Given the description of an element on the screen output the (x, y) to click on. 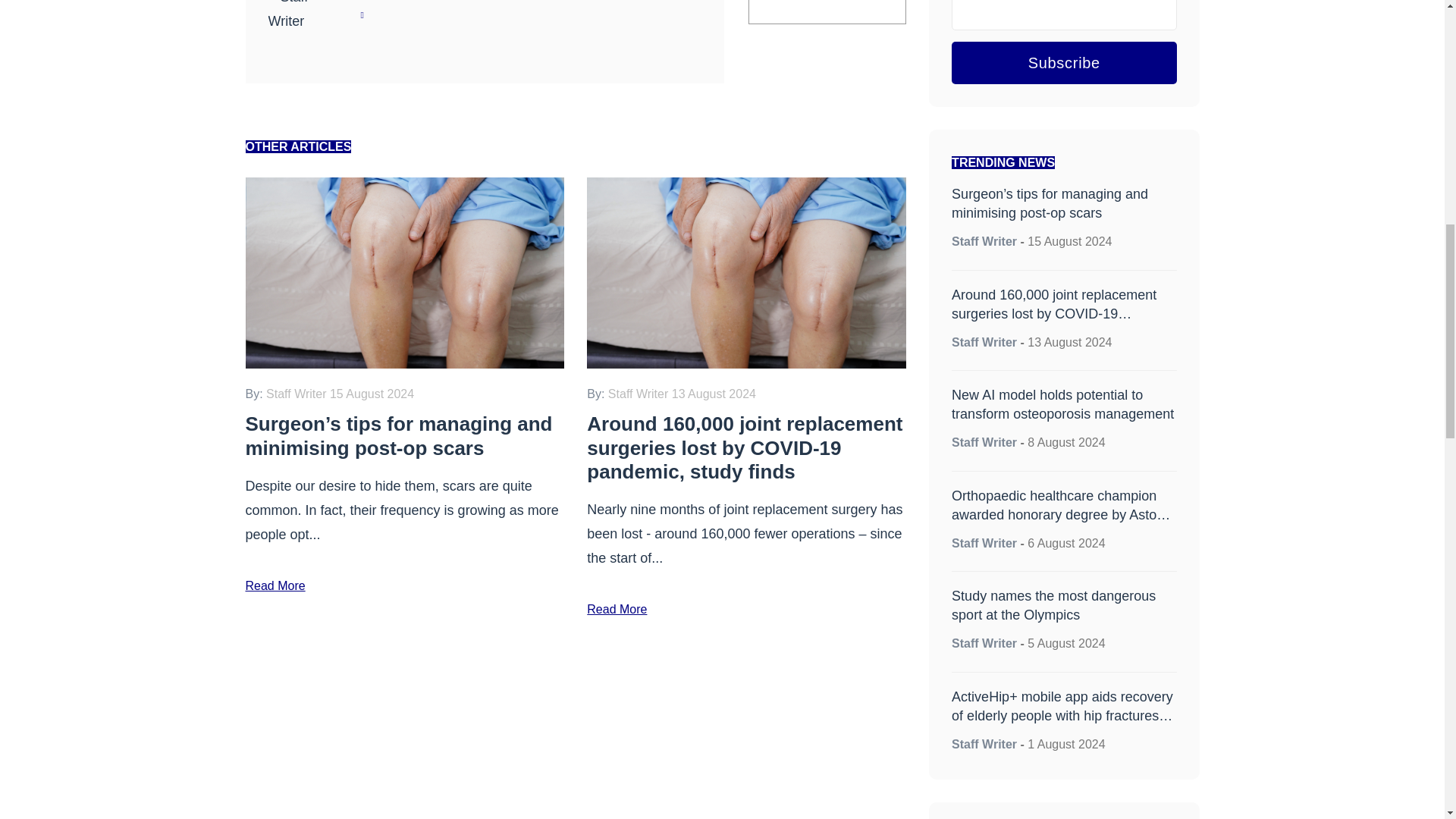
Posts by Staff Writer (984, 441)
Posts by Staff Writer (984, 643)
Posts by Staff Writer (401, 1)
Posts by Staff Writer (984, 341)
Posts by Staff Writer (984, 744)
Posts by Staff Writer (984, 543)
Posts by Staff Writer (984, 241)
Subscribe (1064, 62)
